Given the description of an element on the screen output the (x, y) to click on. 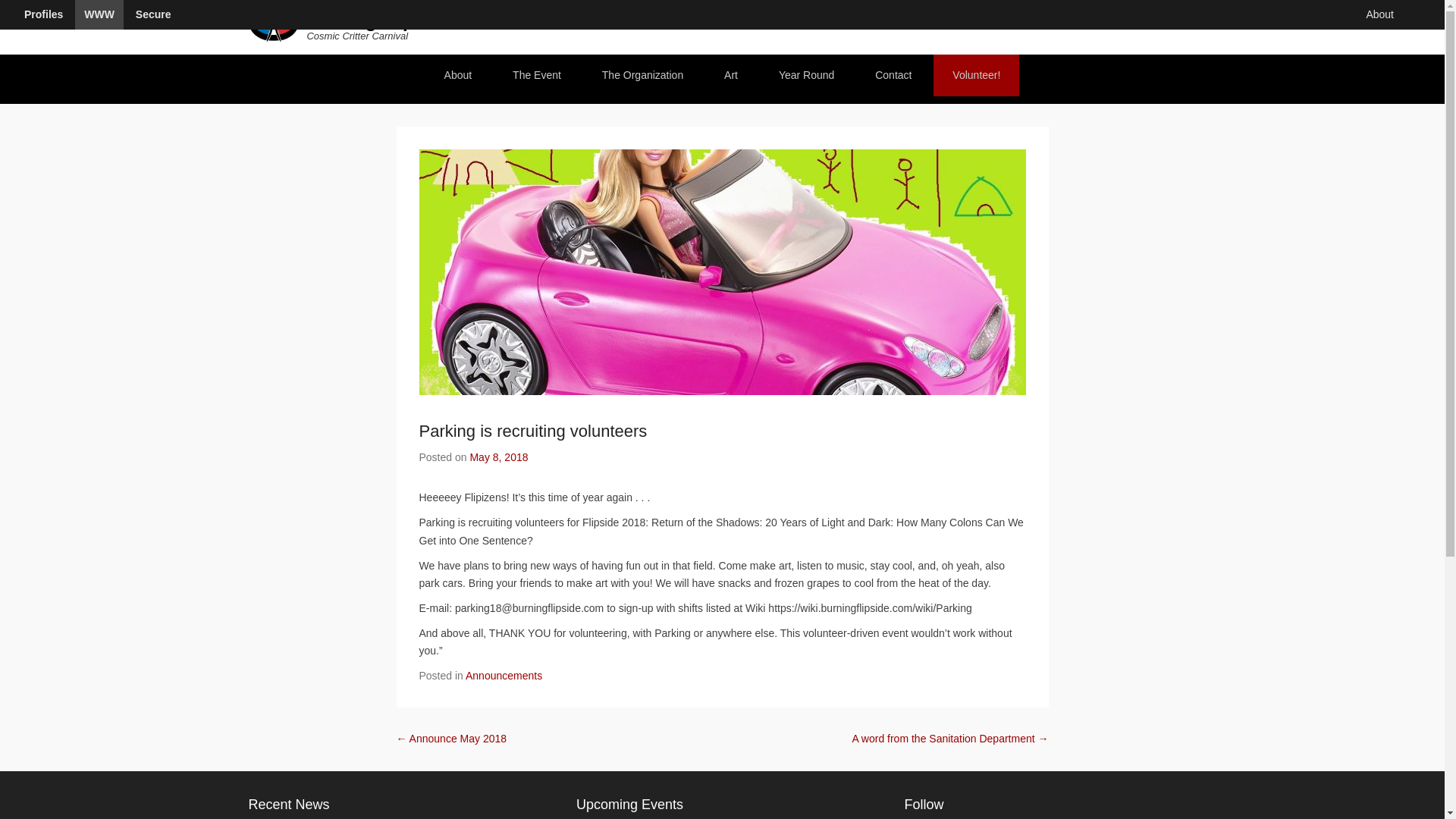
Burning Flipside (377, 20)
8:00 am (497, 457)
